Given the description of an element on the screen output the (x, y) to click on. 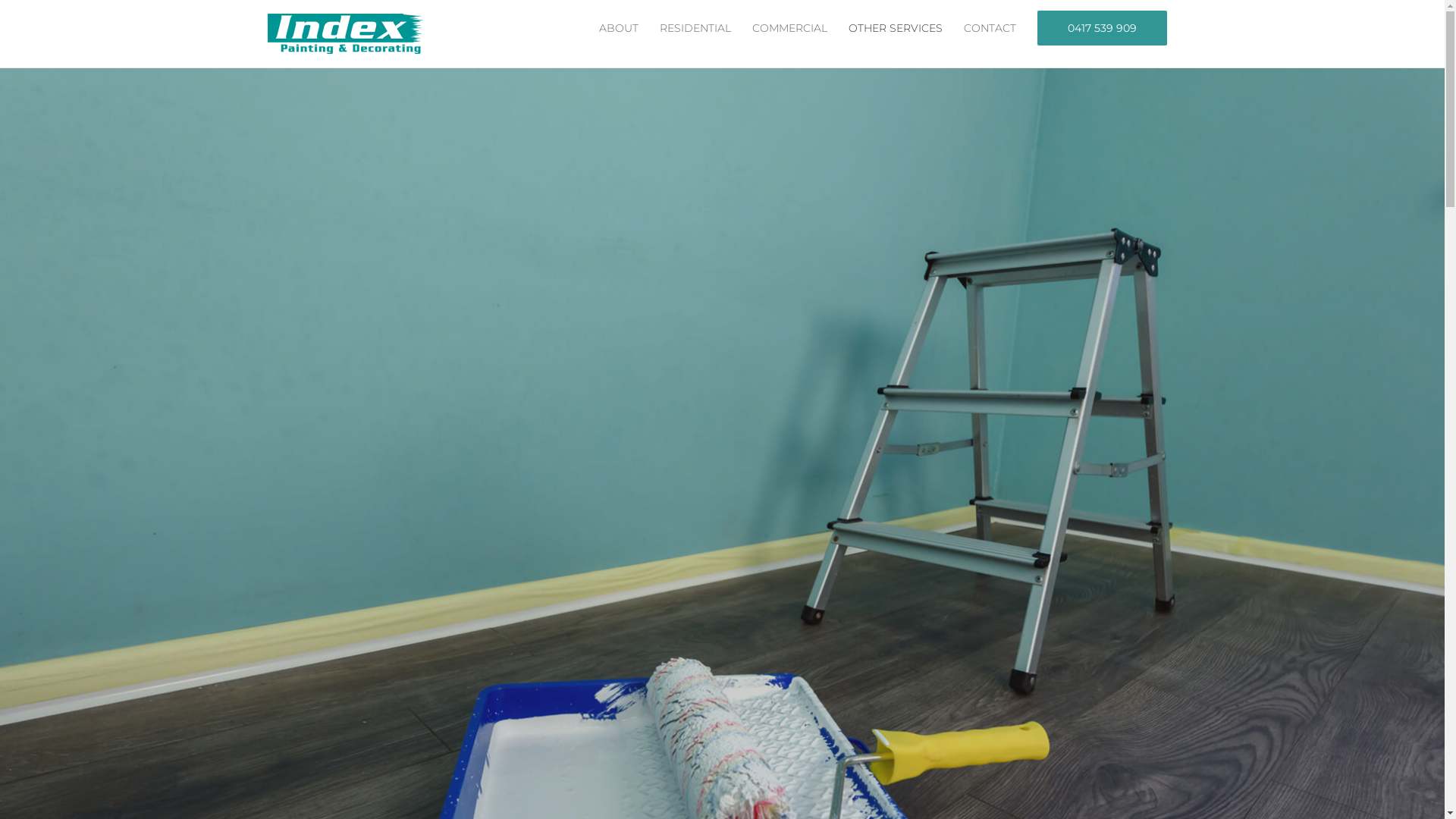
COMMERCIAL Element type: text (789, 27)
RESIDENTIAL Element type: text (695, 27)
0417 539 909 Element type: text (1102, 27)
OTHER SERVICES Element type: text (894, 27)
0417 539 909 Element type: text (1102, 27)
ABOUT Element type: text (618, 27)
CONTACT Element type: text (989, 27)
